Given the description of an element on the screen output the (x, y) to click on. 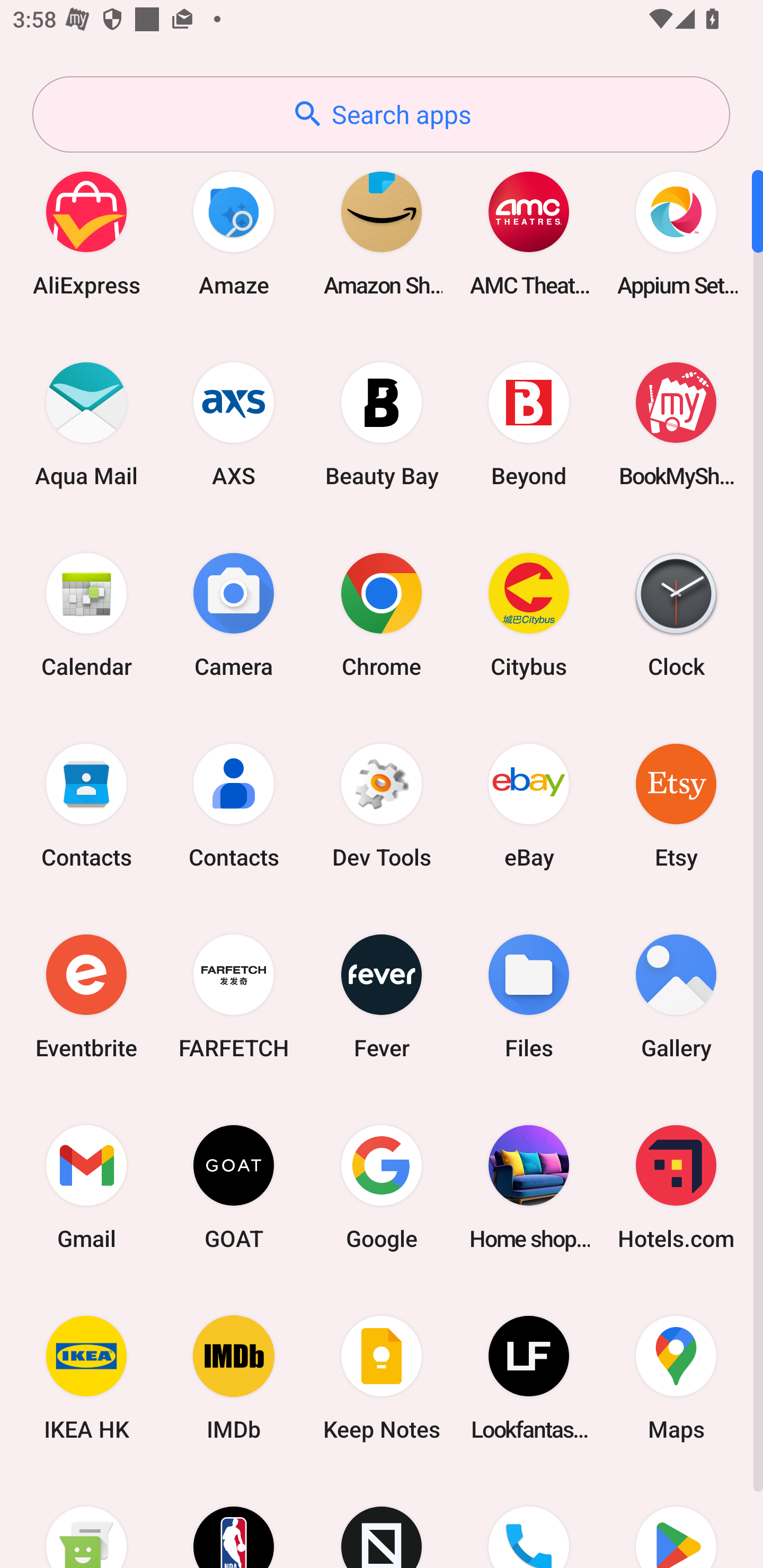
  Search apps (381, 114)
AliExpress (86, 233)
Amaze (233, 233)
Amazon Shopping (381, 233)
AMC Theatres (528, 233)
Appium Settings (676, 233)
Aqua Mail (86, 424)
AXS (233, 424)
Beauty Bay (381, 424)
Beyond (528, 424)
BookMyShow (676, 424)
Calendar (86, 614)
Camera (233, 614)
Chrome (381, 614)
Citybus (528, 614)
Clock (676, 614)
Contacts (86, 805)
Contacts (233, 805)
Dev Tools (381, 805)
eBay (528, 805)
Etsy (676, 805)
Eventbrite (86, 996)
FARFETCH (233, 996)
Fever (381, 996)
Files (528, 996)
Gallery (676, 996)
Gmail (86, 1186)
GOAT (233, 1186)
Google (381, 1186)
Home shopping (528, 1186)
Hotels.com (676, 1186)
IKEA HK (86, 1377)
IMDb (233, 1377)
Keep Notes (381, 1377)
Lookfantastic (528, 1377)
Maps (676, 1377)
